Given the description of an element on the screen output the (x, y) to click on. 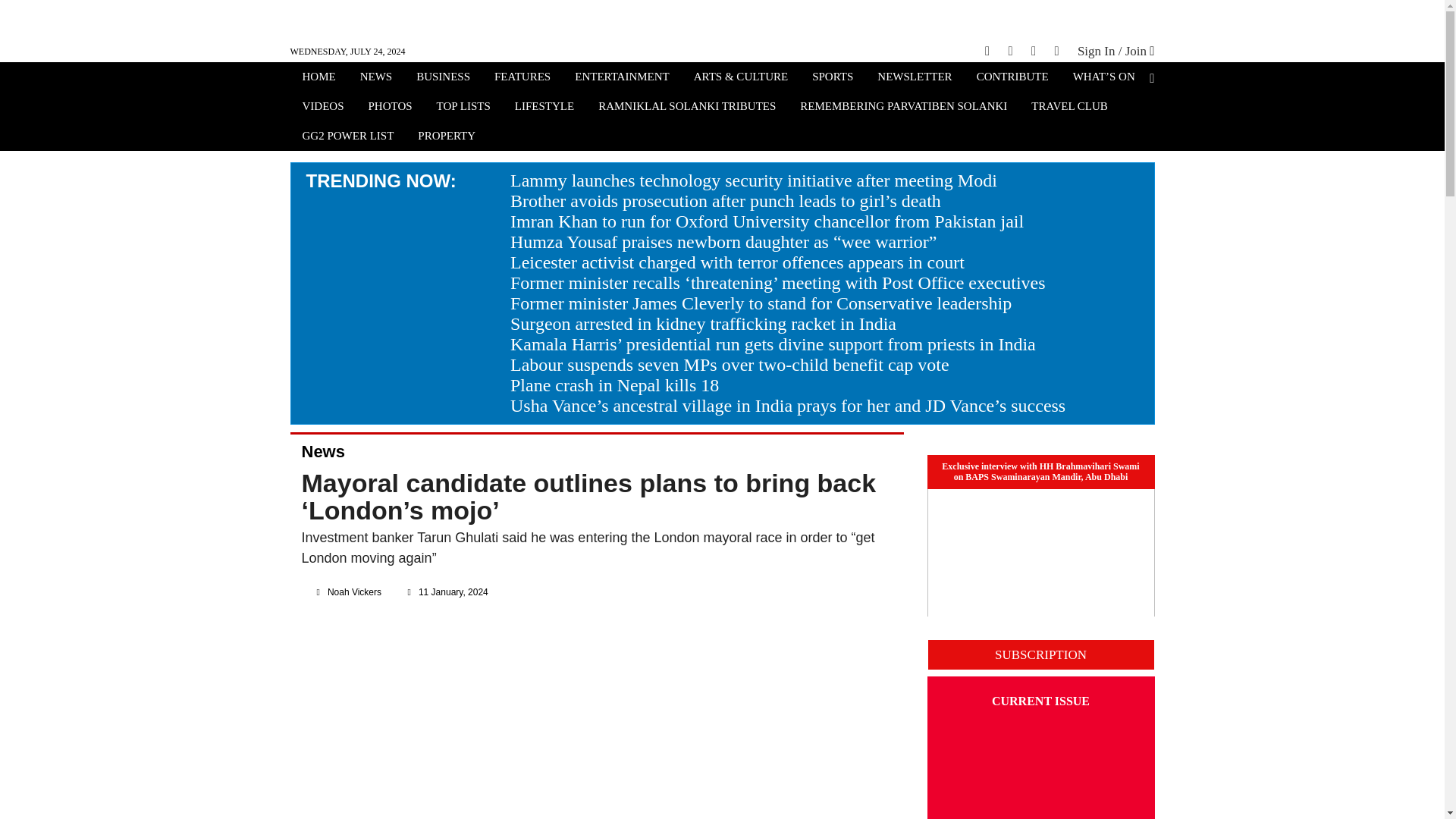
Surgeon arrested in kidney trafficking racket in India (703, 323)
SPORTS (832, 78)
PHOTOS (390, 108)
GG2 POWER LIST (346, 137)
HOME (317, 78)
ENTERTAINMENT (622, 78)
REMEMBERING PARVATIBEN SOLANKI (903, 108)
LIFESTYLE (543, 108)
BUSINESS (443, 78)
TRAVEL CLUB (1069, 108)
RAMNIKLAL SOLANKI TRIBUTES (686, 108)
NEWSLETTER (914, 78)
